Given the description of an element on the screen output the (x, y) to click on. 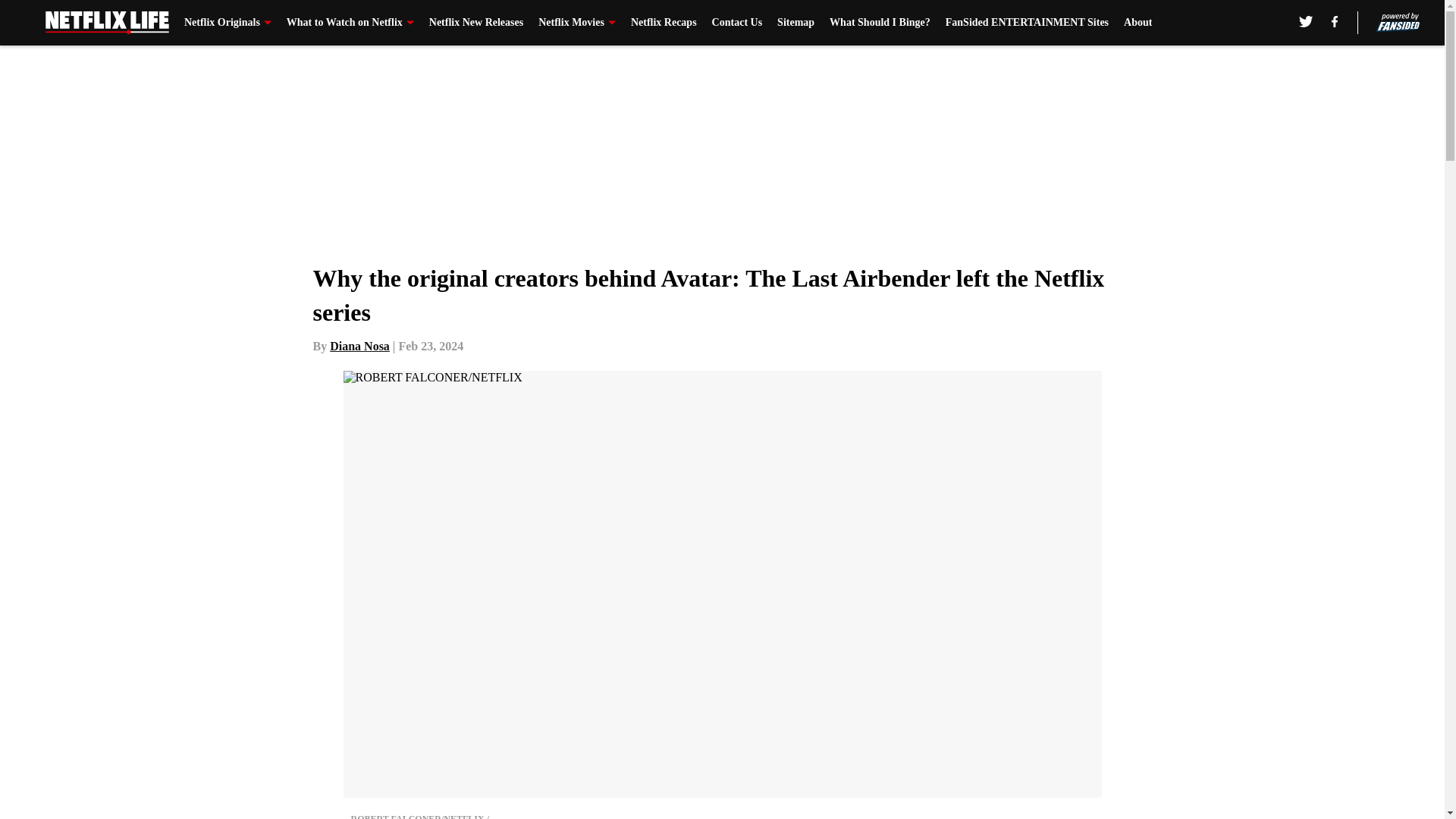
Netflix Originals (227, 22)
What to Watch on Netflix (349, 22)
Netflix New Releases (475, 22)
Netflix Movies (576, 22)
